Given the description of an element on the screen output the (x, y) to click on. 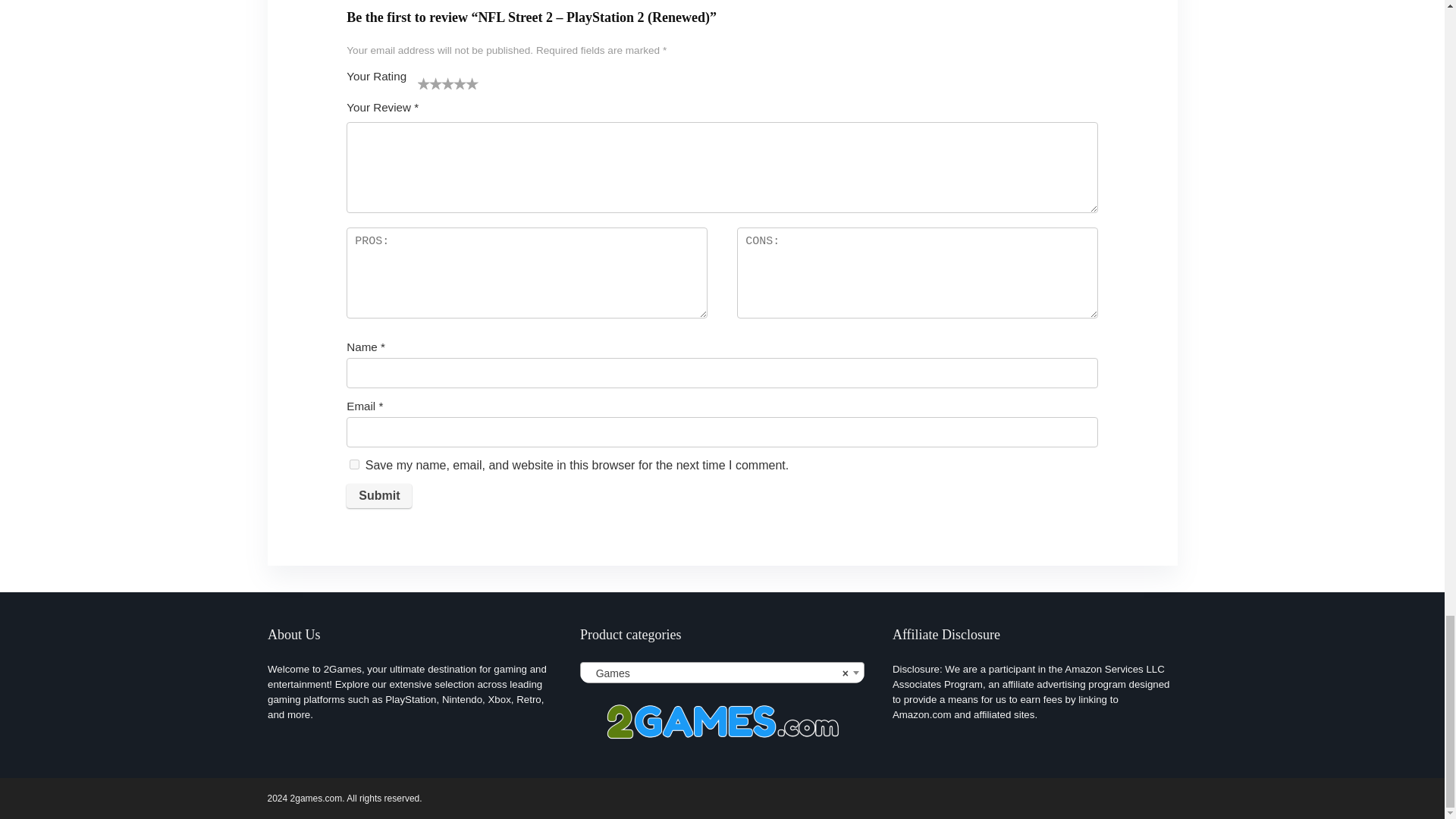
Submit (379, 495)
yes (354, 464)
